Given the description of an element on the screen output the (x, y) to click on. 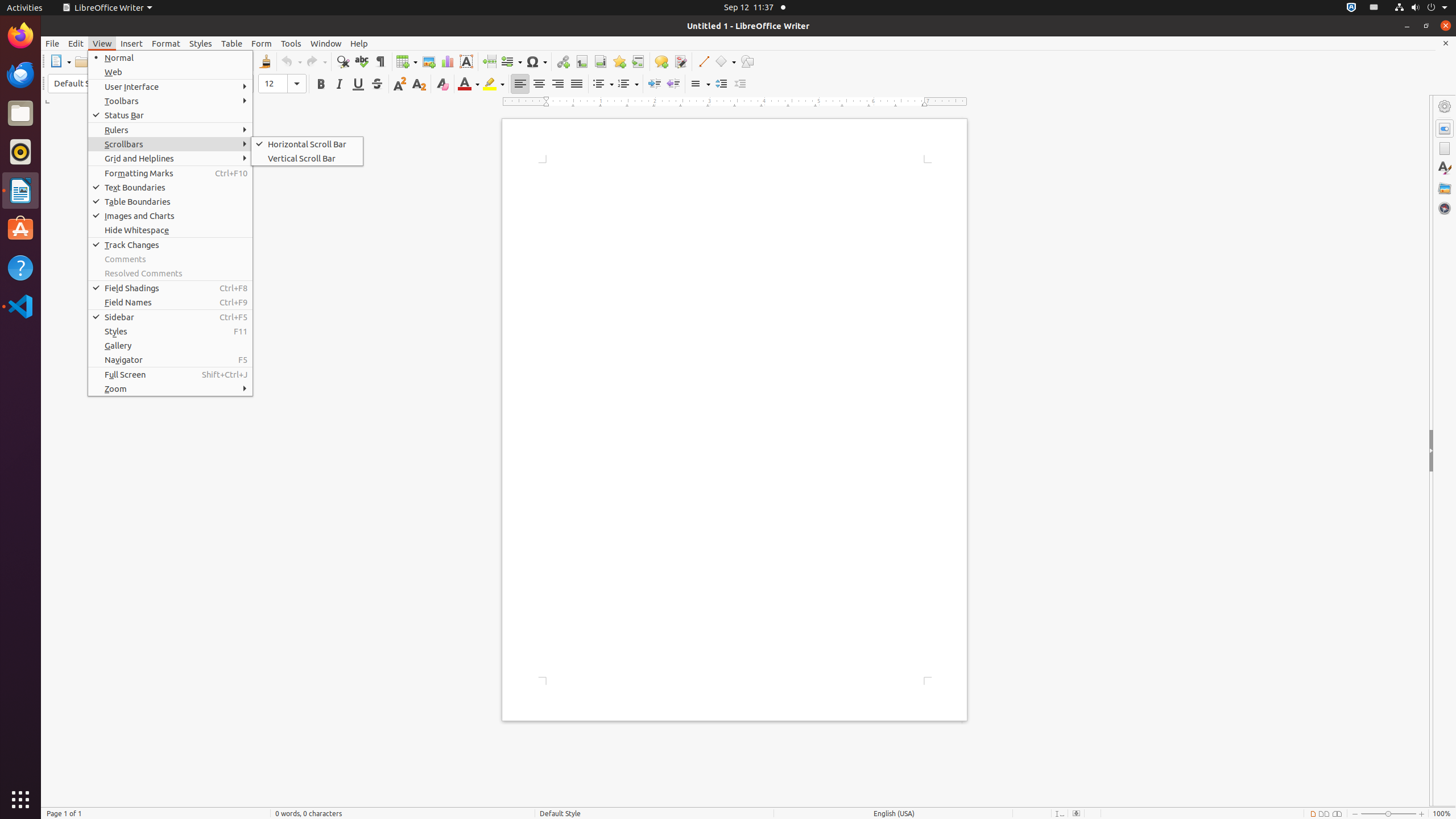
Gallery Element type: radio-button (1444, 188)
View Element type: menu (102, 43)
Image Element type: push-button (428, 61)
:1.72/StatusNotifierItem Element type: menu (1350, 7)
Insert Element type: menu (131, 43)
